Given the description of an element on the screen output the (x, y) to click on. 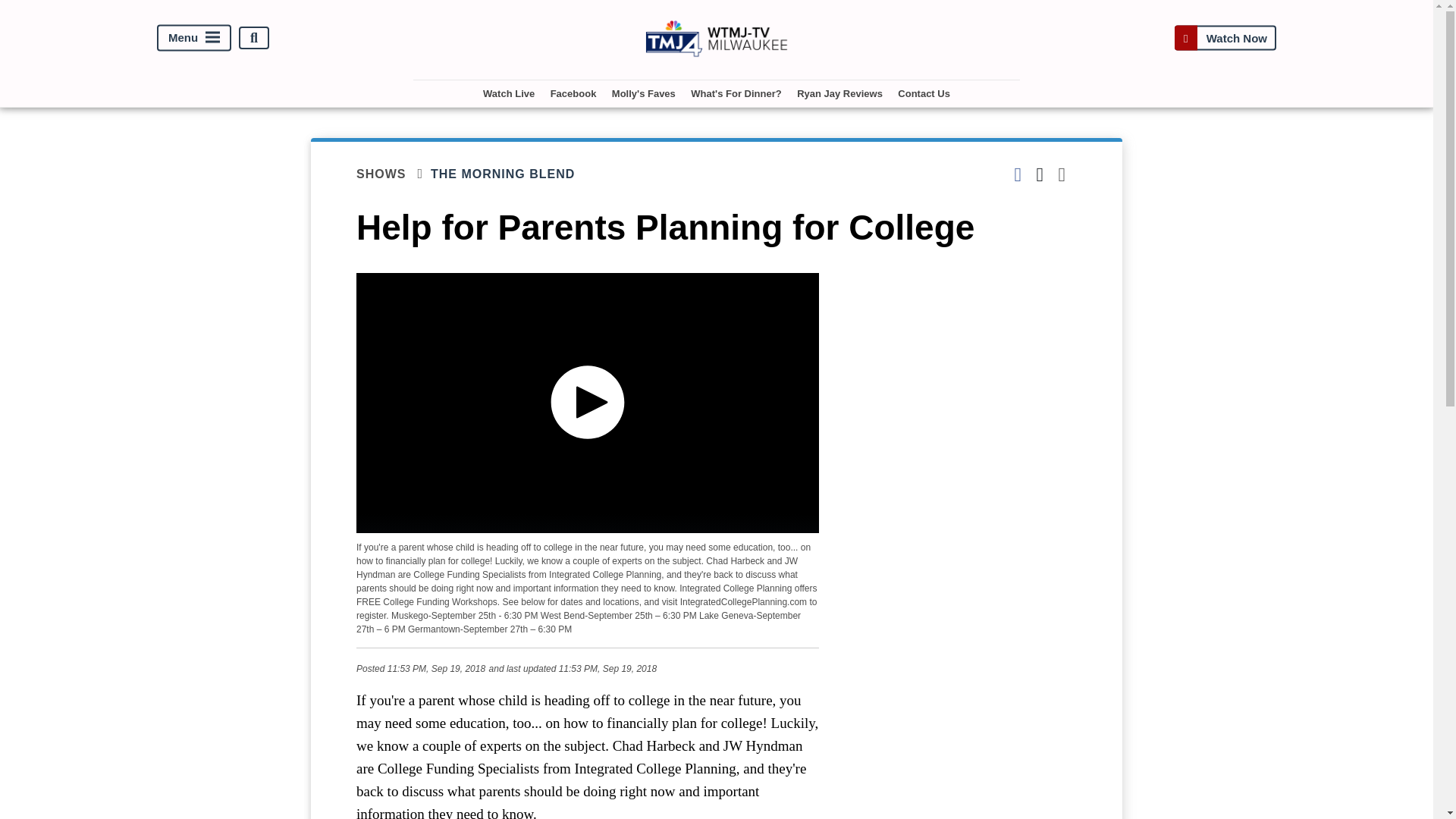
Menu (194, 38)
Watch Now (1224, 38)
